Given the description of an element on the screen output the (x, y) to click on. 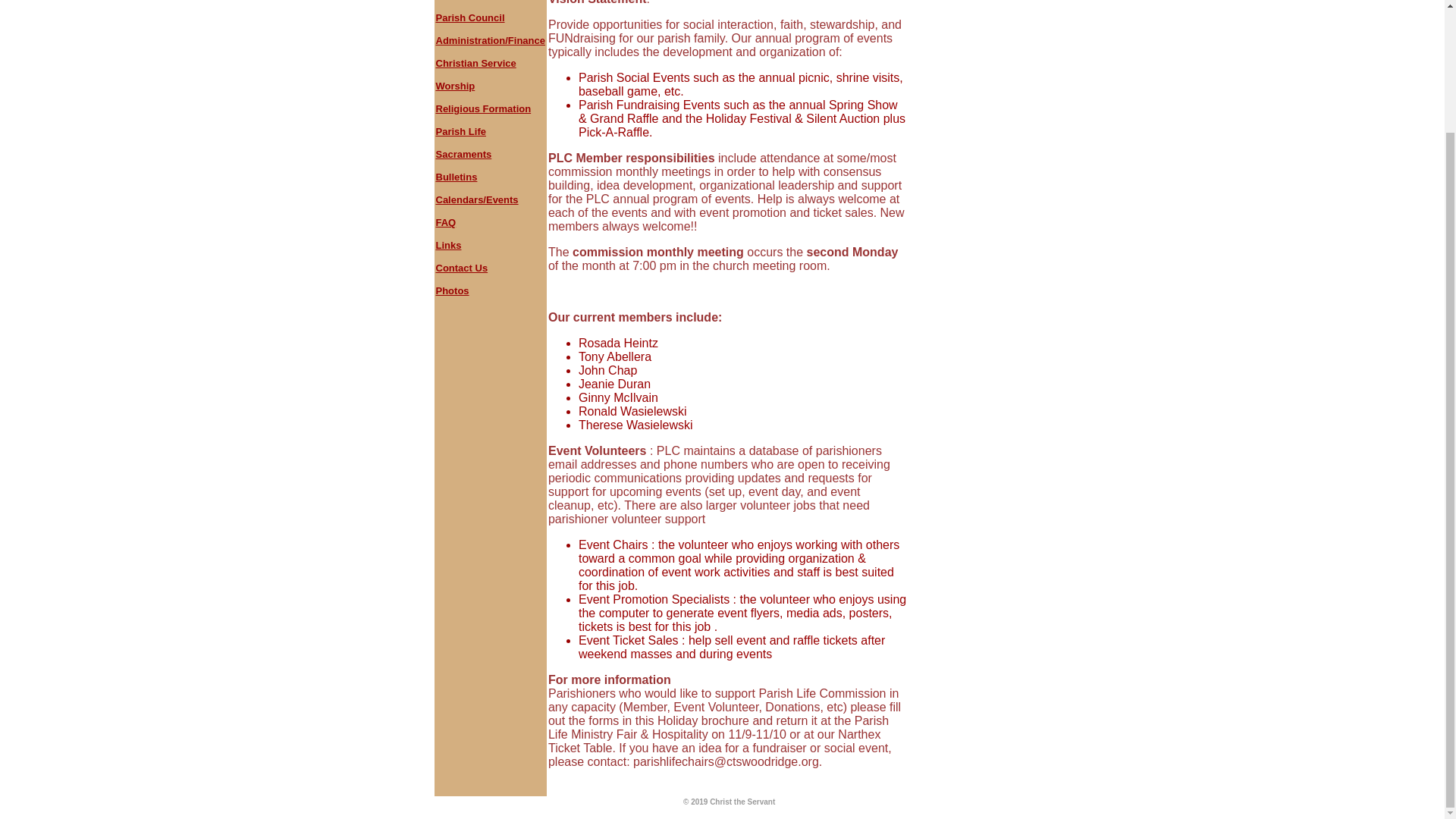
Photos (451, 290)
Parish Life (459, 131)
Links (448, 244)
Parish Council (469, 17)
Bulletins (456, 176)
Sacraments (463, 153)
Worship (454, 85)
Christian Service (475, 62)
Religious Formation (483, 108)
Contact Us (461, 267)
FAQ (445, 222)
